Given the description of an element on the screen output the (x, y) to click on. 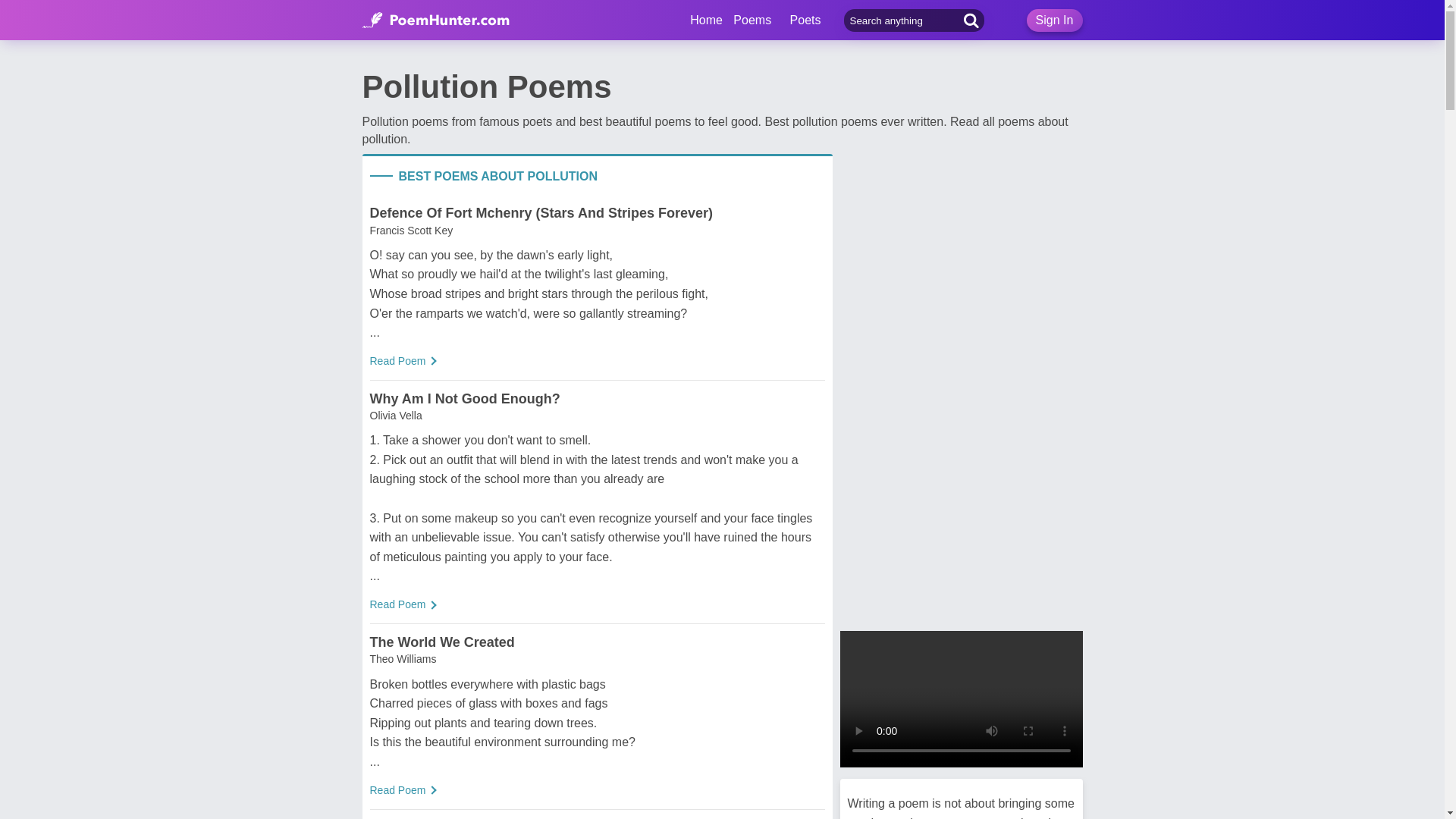
Read Poem (397, 360)
PoemHunter.com: Poems - Poets - Poetry (706, 19)
Home (706, 19)
Sign In (1054, 19)
PoemHunter.com: Poems - Poets - Poetry (435, 20)
Read Poem (397, 789)
Read Poem (397, 604)
